Given the description of an element on the screen output the (x, y) to click on. 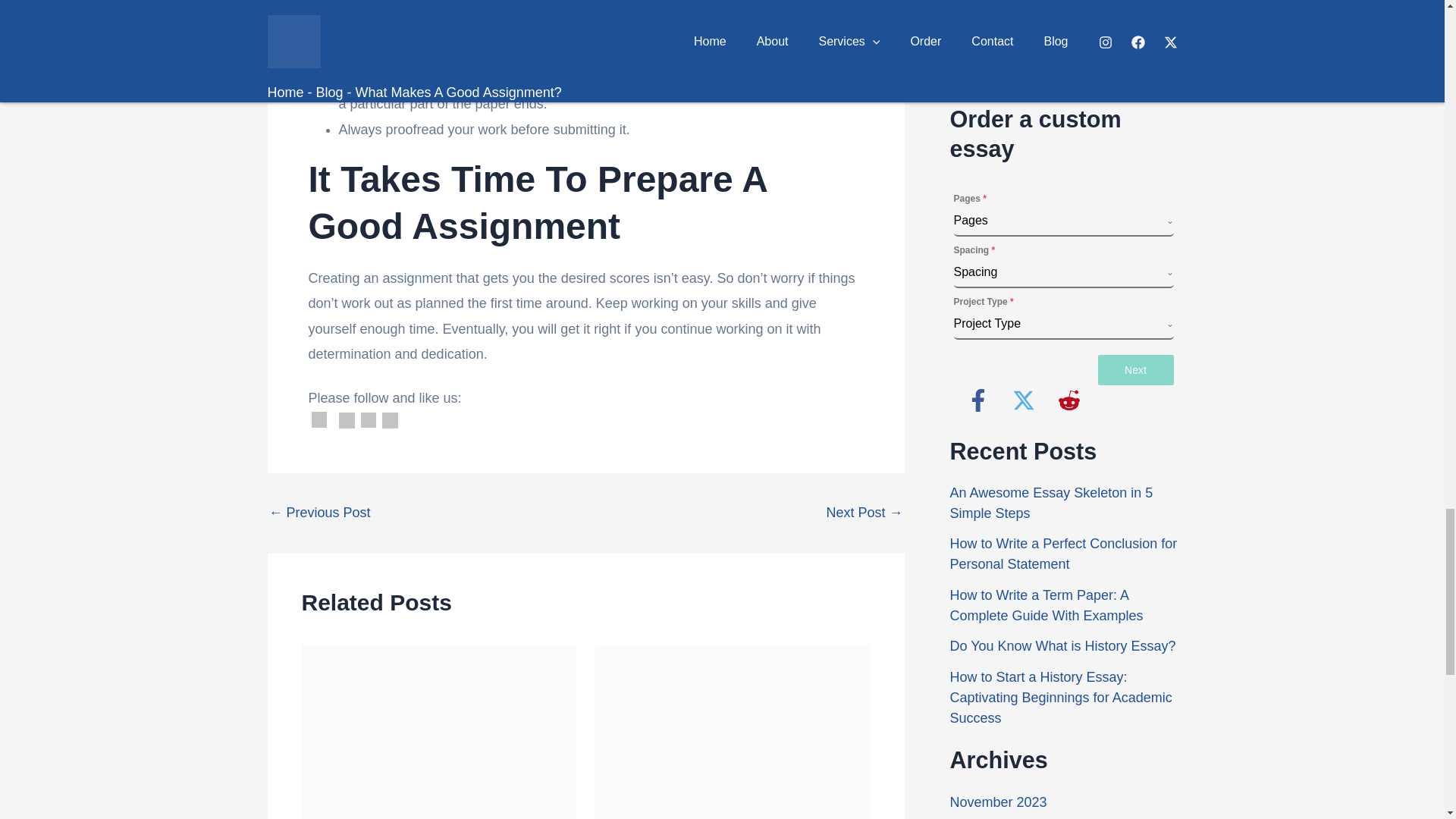
How To Write An Assignment (318, 512)
Facebook Share (347, 420)
Pin Share (389, 420)
Tweet (369, 420)
Are Essay Writing Services Legal? (863, 512)
